Given the description of an element on the screen output the (x, y) to click on. 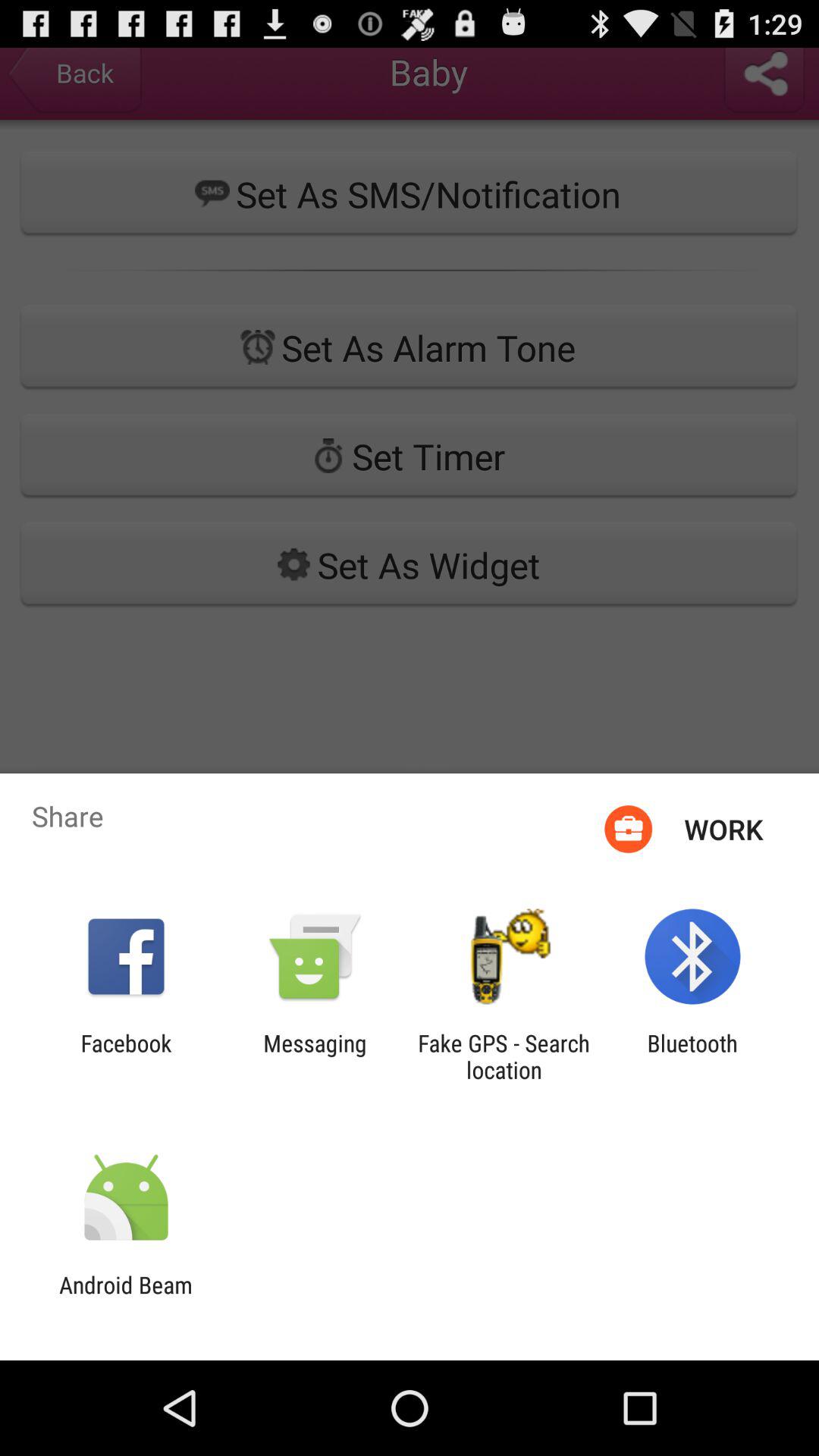
swipe to android beam app (125, 1298)
